Given the description of an element on the screen output the (x, y) to click on. 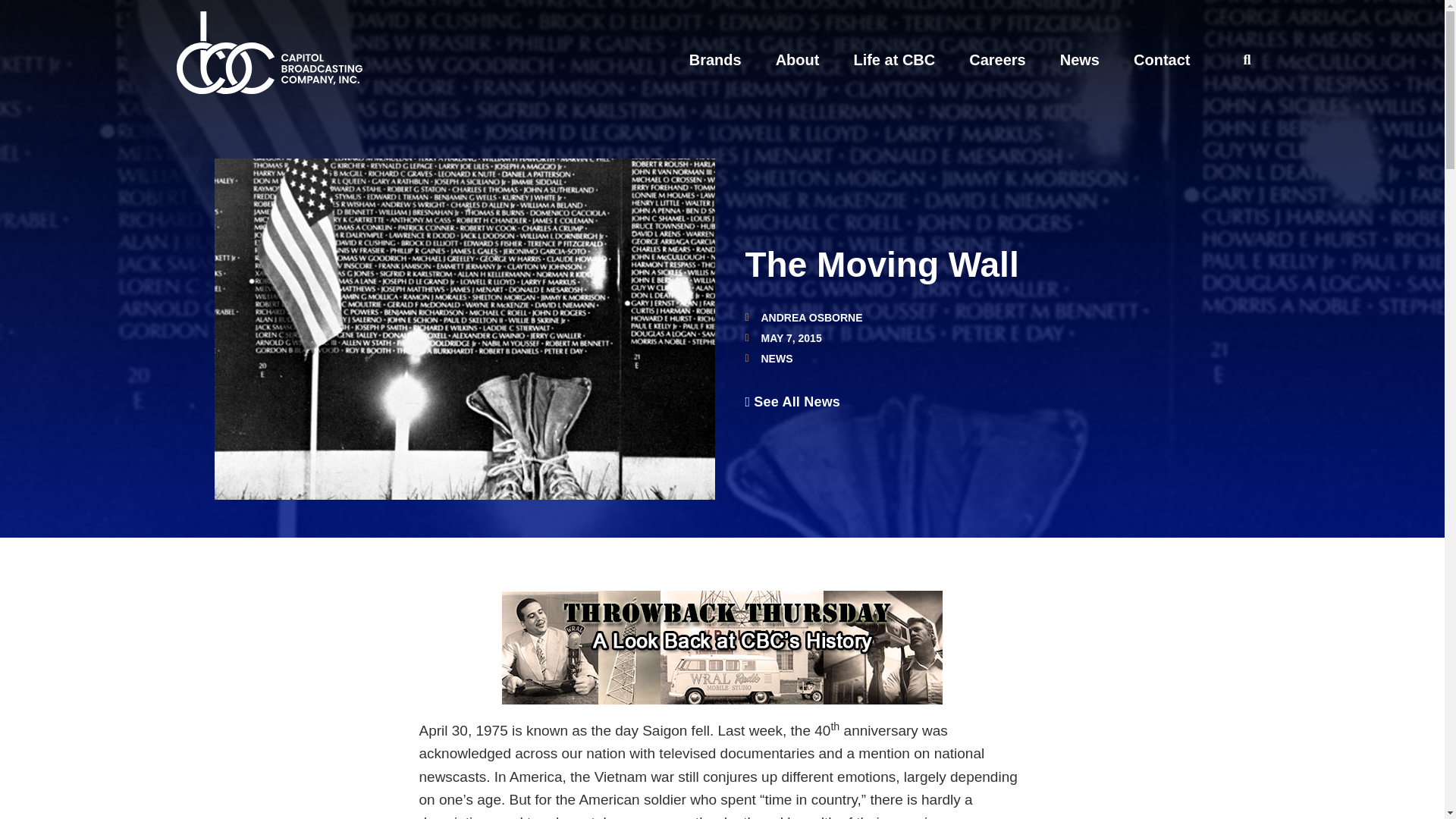
News (1079, 59)
Brands (714, 59)
MAY 7, 2015 (782, 337)
Life at CBC (893, 59)
Careers (997, 59)
ANDREA OSBORNE (802, 317)
NEWS (777, 358)
Contact (1161, 59)
About (797, 59)
See All News (792, 401)
